Given the description of an element on the screen output the (x, y) to click on. 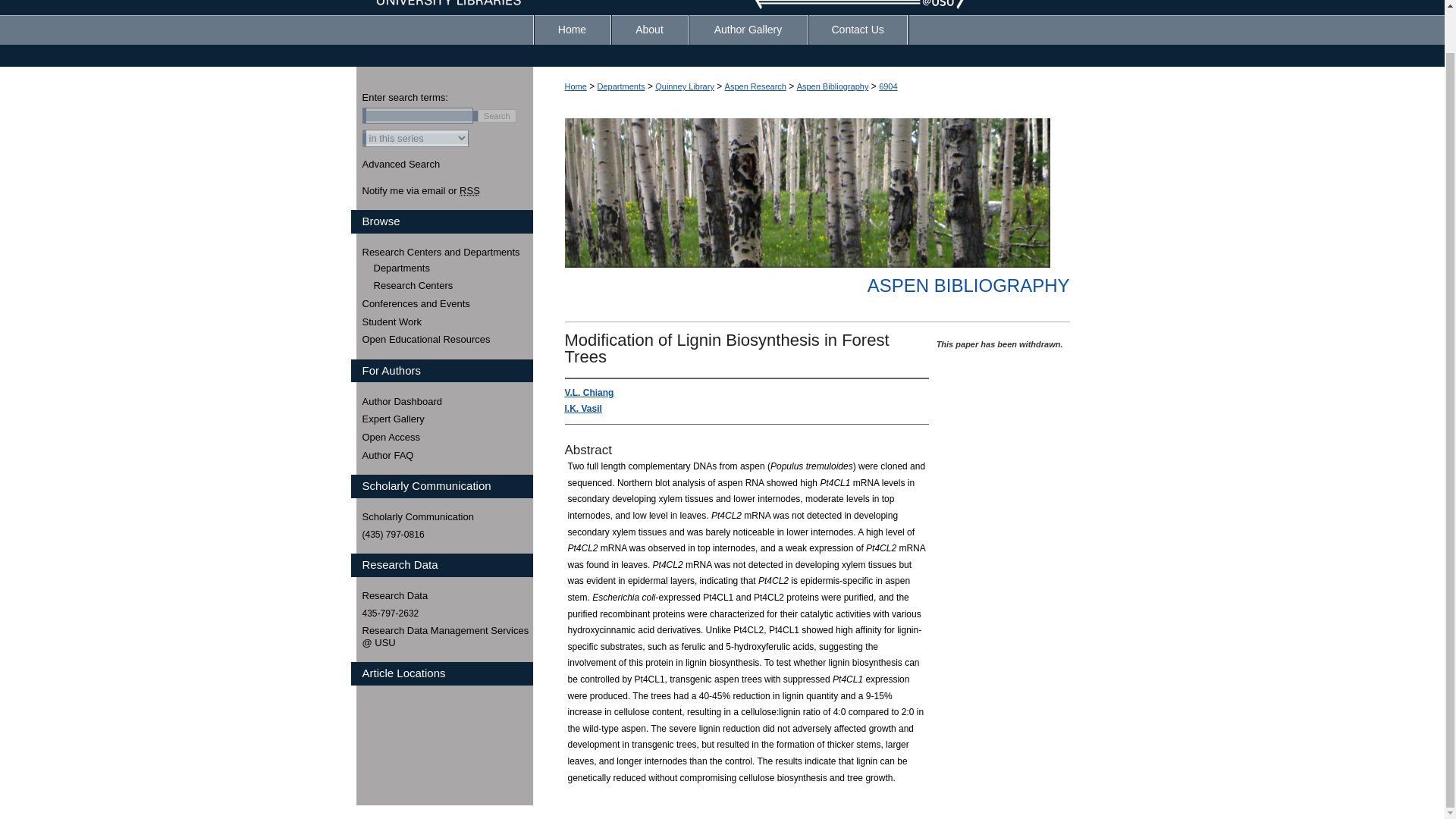
ASPEN BIBLIOGRAPHY (968, 285)
Open Educational Resources (447, 339)
I.K. Vasil (582, 408)
Contact Us (857, 30)
Really Simple Syndication (470, 191)
Email or RSS Notifications (447, 191)
Expert Gallery (447, 419)
Departments (452, 268)
About (649, 30)
Author Gallery (748, 30)
V.L. Chiang (588, 392)
Research Centers (452, 285)
Open Access (447, 437)
Search (496, 115)
Author Dashboard (447, 401)
